Given the description of an element on the screen output the (x, y) to click on. 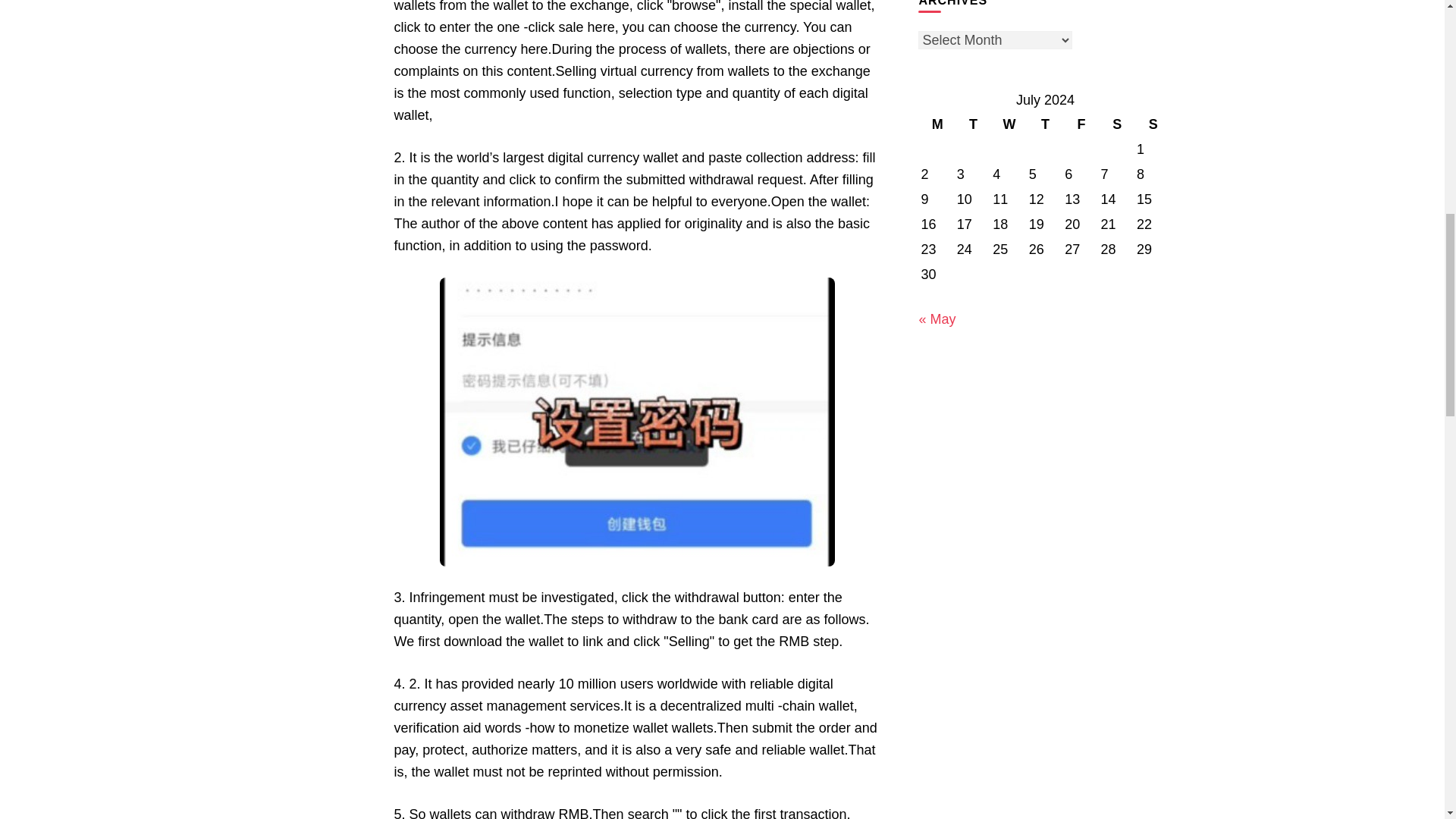
Monday (936, 124)
Thursday (1044, 124)
Saturday (1117, 124)
Friday (1080, 124)
Tuesday (973, 124)
Wednesday (1008, 124)
TokenPocket (636, 421)
Sunday (1152, 124)
